Given the description of an element on the screen output the (x, y) to click on. 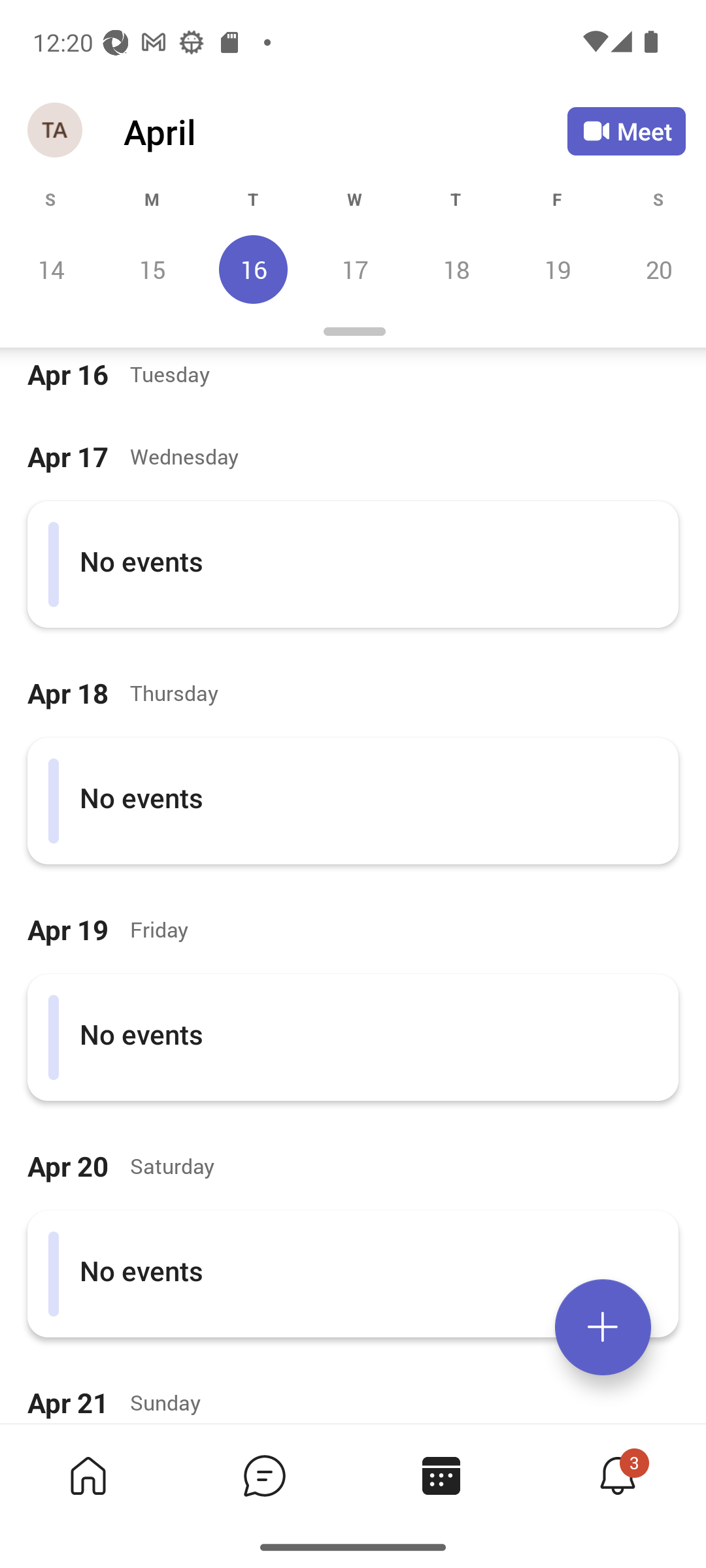
Navigation (56, 130)
Meet Meet now or join with an ID (626, 130)
April April Calendar Agenda View (345, 131)
Sunday, April 14 14 (50, 269)
Monday, April 15 15 (151, 269)
Tuesday, April 16, Selected 16 (253, 269)
Wednesday, April 17 17 (354, 269)
Thursday, April 18 18 (455, 269)
Friday, April 19 19 (556, 269)
Saturday, April 20 20 (656, 269)
Expand meetings menu (602, 1327)
Home tab,1 of 4, not selected (88, 1475)
Chat tab,2 of 4, not selected (264, 1475)
Calendar tab, 3 of 4 (441, 1475)
Activity tab,4 of 4, not selected, 3 new 3 (617, 1475)
